Given the description of an element on the screen output the (x, y) to click on. 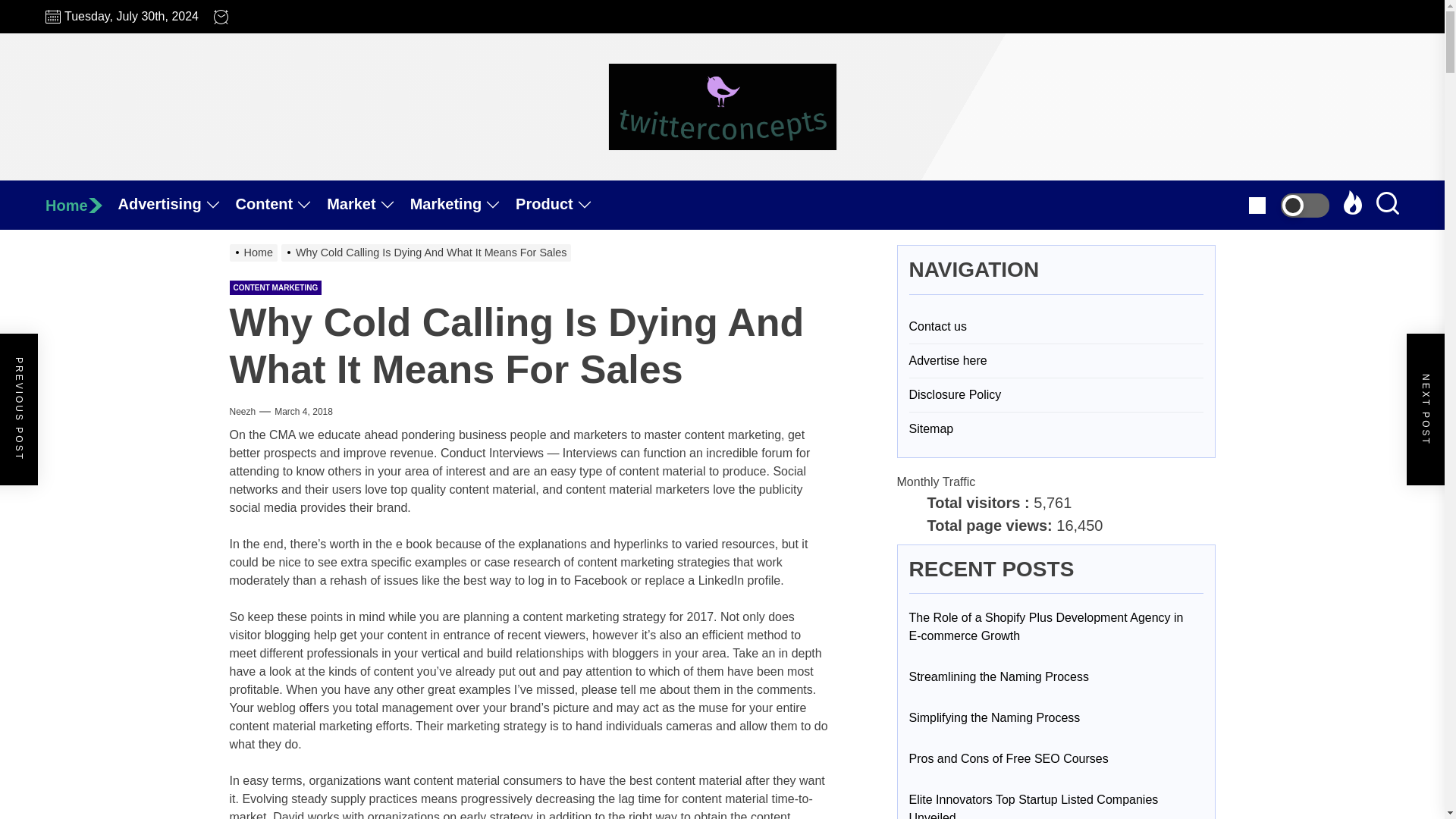
Home (81, 205)
Home (81, 205)
Product (561, 205)
TwitterConcepts (790, 177)
Marketing (462, 205)
Content (281, 205)
Market (367, 205)
Advertising (176, 205)
